Given the description of an element on the screen output the (x, y) to click on. 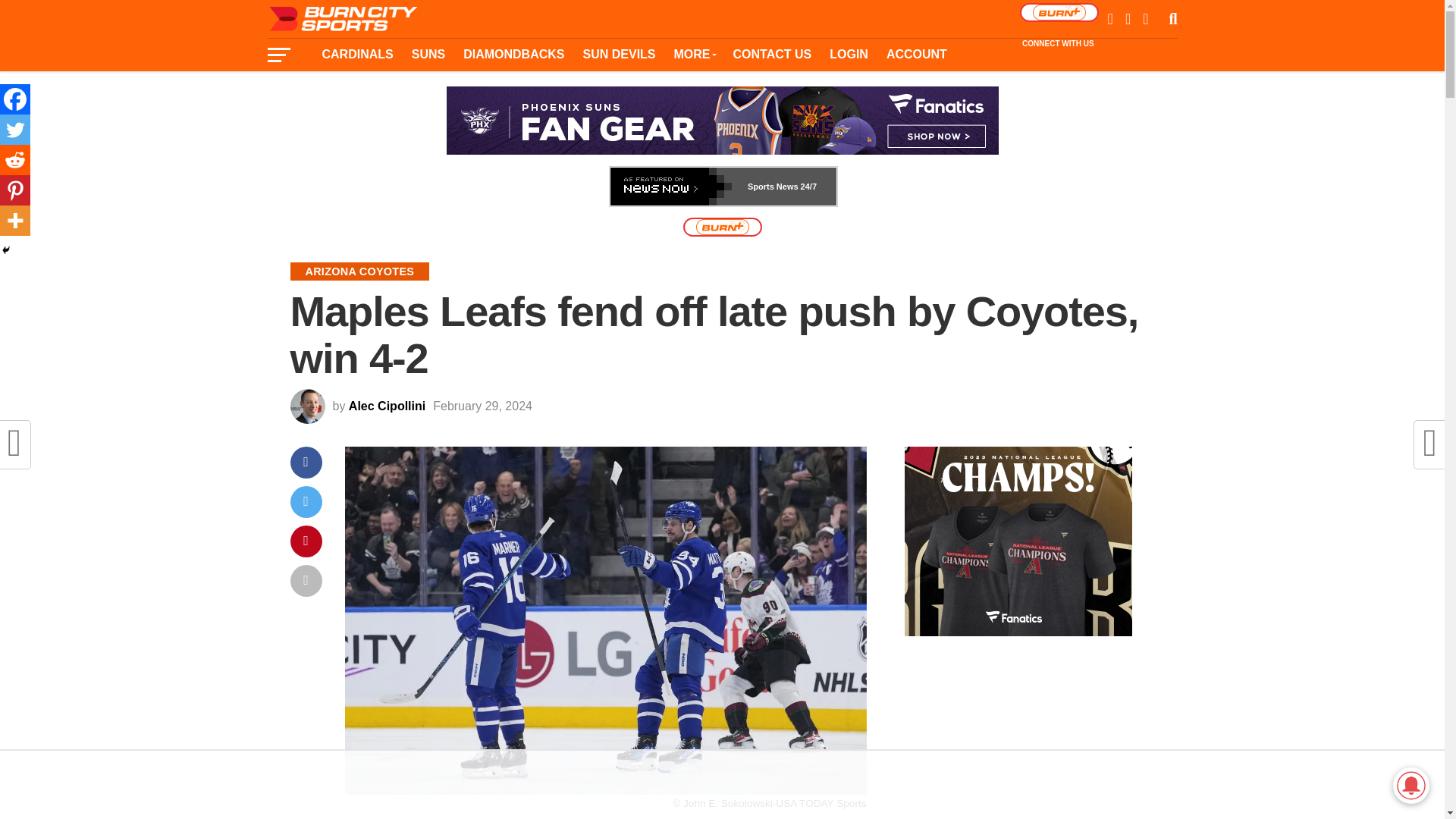
CARDINALS (357, 54)
Reddit (15, 159)
DIAMONDBACKS (513, 54)
Facebook (15, 99)
Twitter (15, 129)
Click here for more Sports news from NewsNow (722, 186)
SUN DEVILS (618, 54)
Posts by Alec Cipollini (387, 405)
SUNS (428, 54)
